Given the description of an element on the screen output the (x, y) to click on. 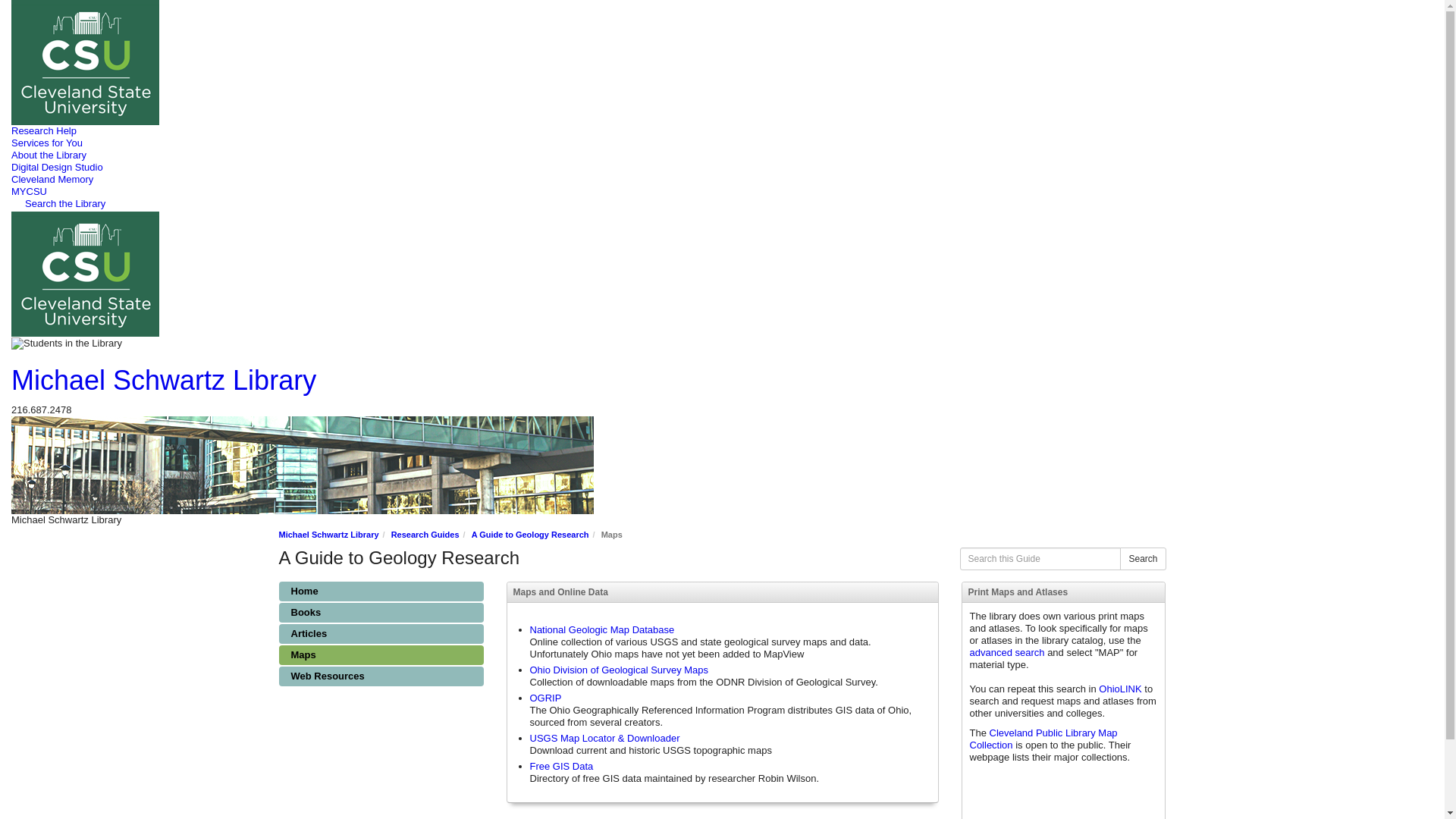
Search (1142, 558)
advanced search (1006, 652)
Ohio Division of Geological Survey Maps (618, 669)
Search the Library (57, 203)
Maps (381, 655)
Michael Schwartz Library (163, 379)
Services for You (46, 142)
OhioLINK (1120, 688)
Search the Library website (57, 203)
Cleveland Memory (52, 179)
